Given the description of an element on the screen output the (x, y) to click on. 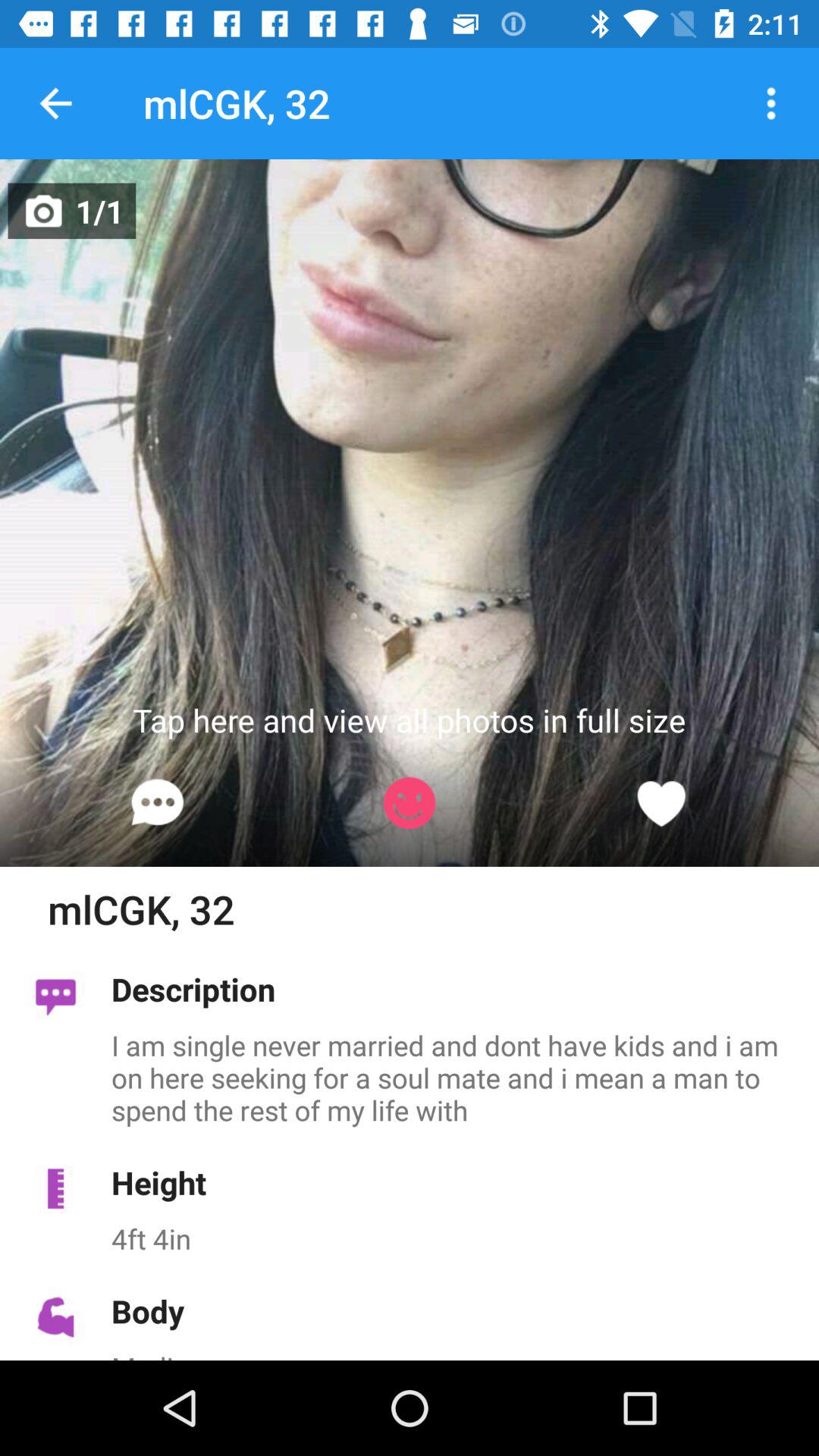
press icon below the description item (457, 1077)
